Given the description of an element on the screen output the (x, y) to click on. 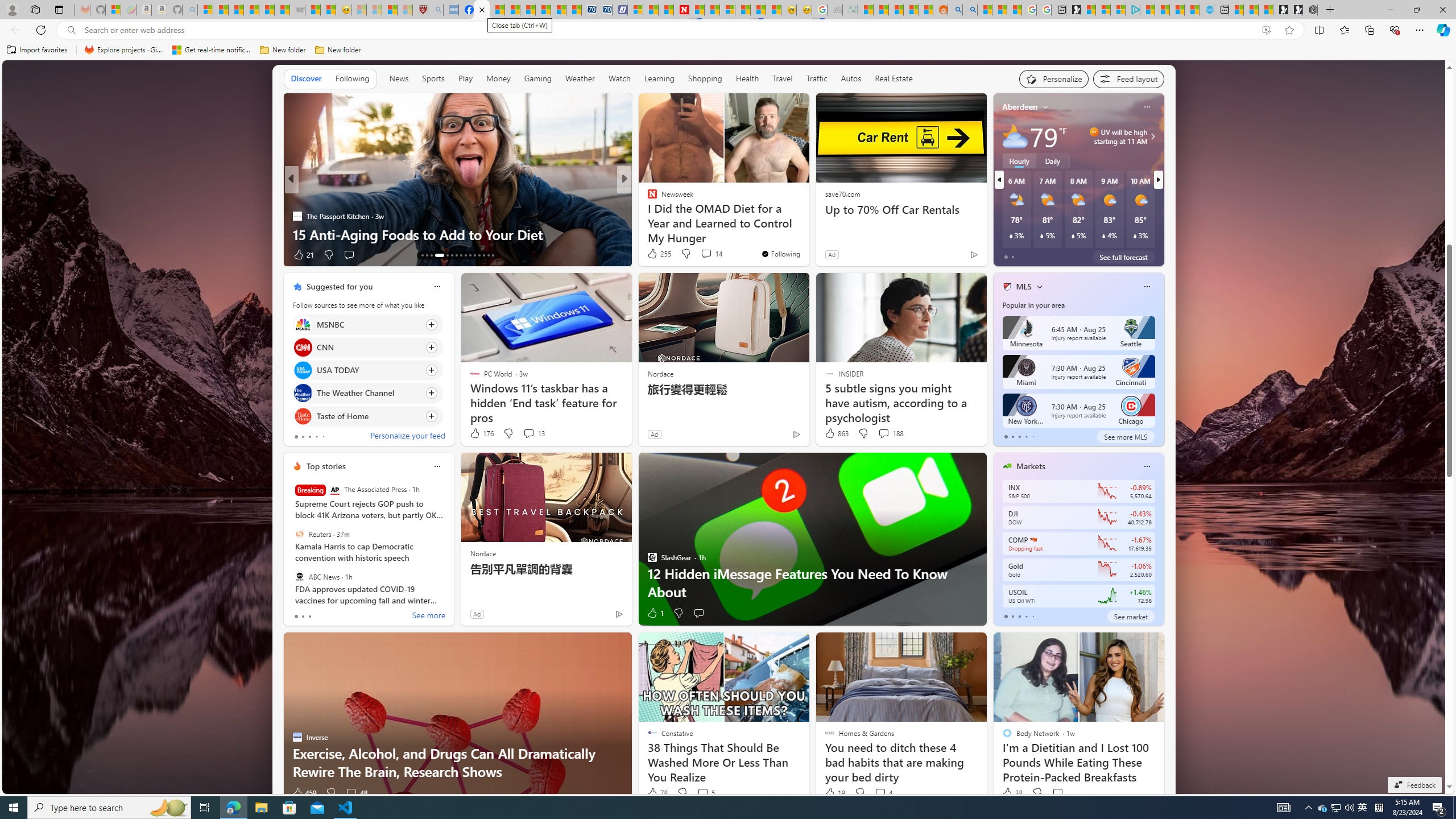
Search icon (70, 29)
2024 Promotion - Book Here (457, 234)
Gaming (537, 79)
tab-3 (1025, 616)
Markets (1030, 466)
15 Breakfast Recipes That Keep Your Blood Sugar In Check (807, 225)
Constative (647, 197)
AutomationID: tab-67 (426, 255)
Shopping (705, 78)
